Given the description of an element on the screen output the (x, y) to click on. 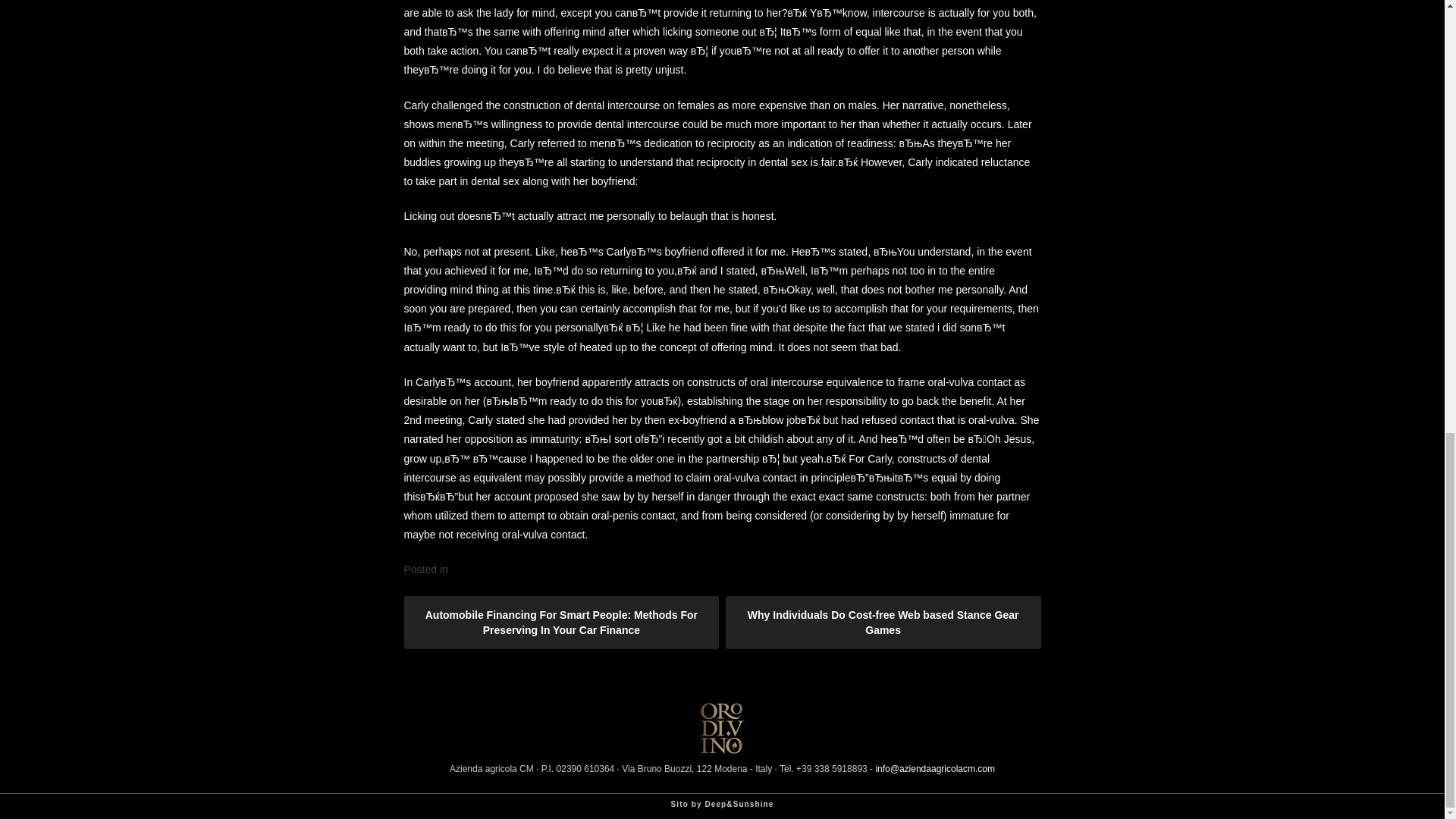
Oro Di Vino (721, 749)
